Given the description of an element on the screen output the (x, y) to click on. 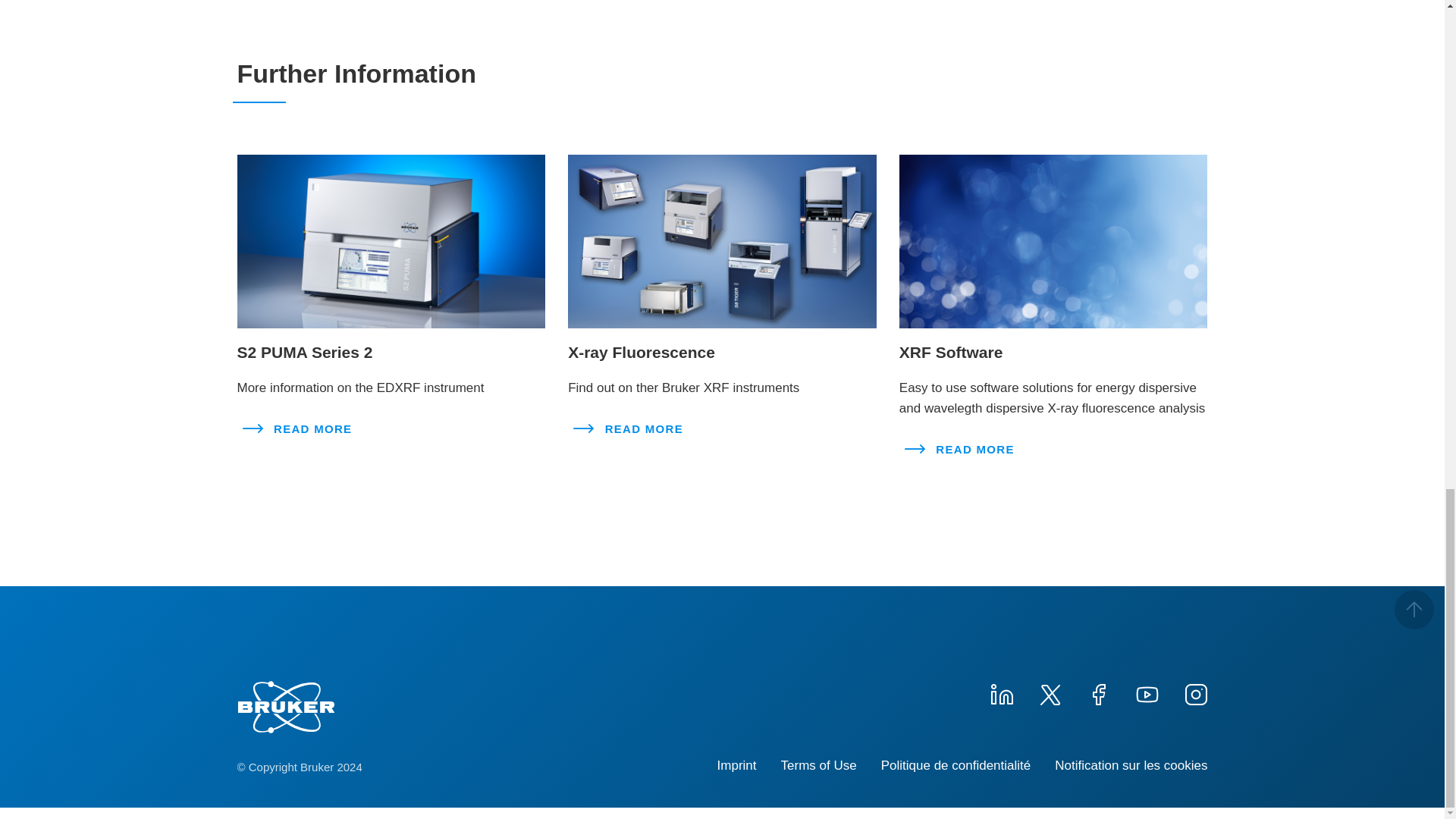
linkedin (1000, 692)
twitter (1048, 692)
instagram (1194, 692)
youtube (1146, 692)
facebook (1097, 692)
